Given the description of an element on the screen output the (x, y) to click on. 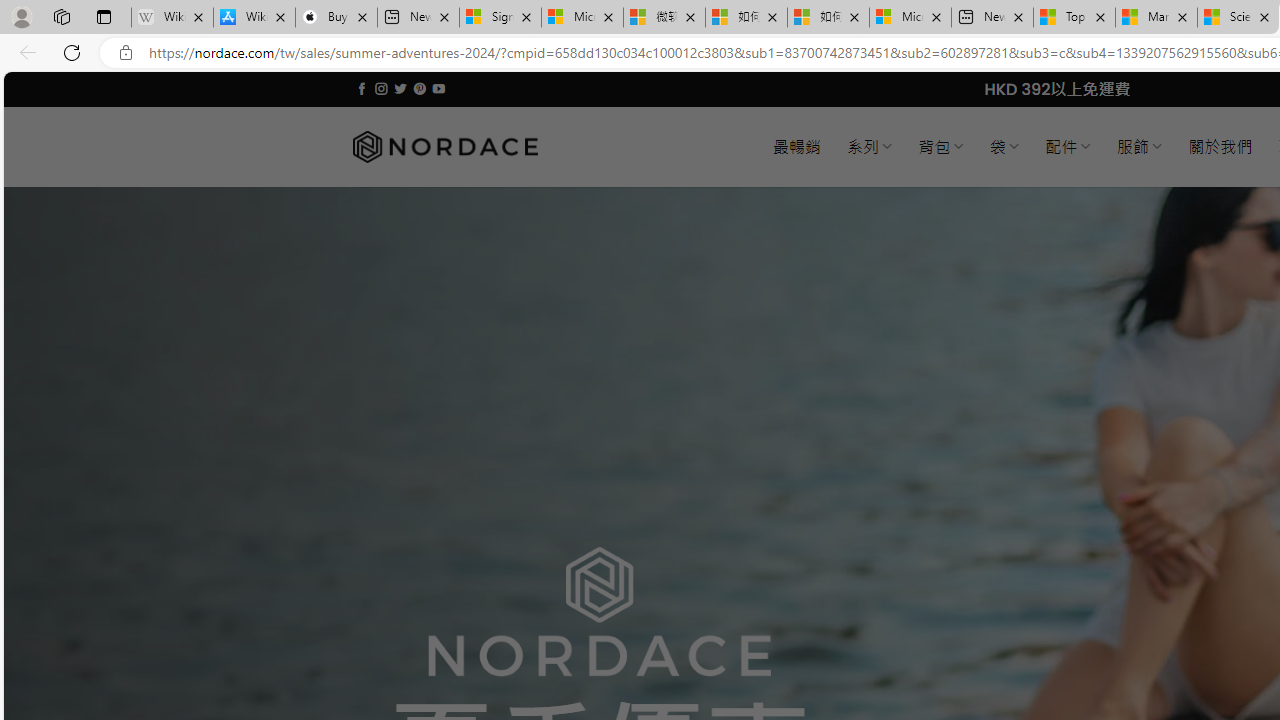
Wikipedia - Sleeping (171, 17)
Follow on Twitter (400, 88)
Marine life - MSN (1156, 17)
Microsoft Services Agreement (582, 17)
